Given the description of an element on the screen output the (x, y) to click on. 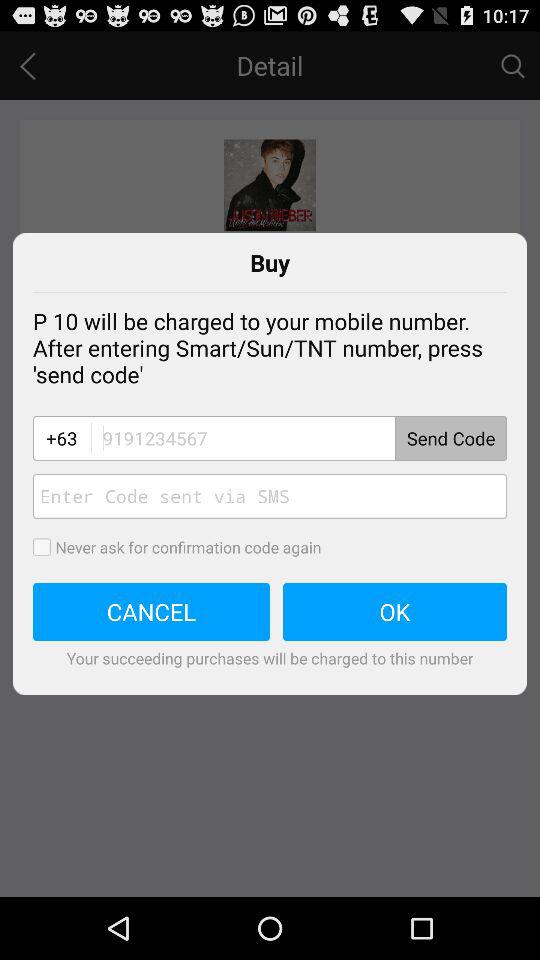
scroll to the ok button (395, 611)
